Given the description of an element on the screen output the (x, y) to click on. 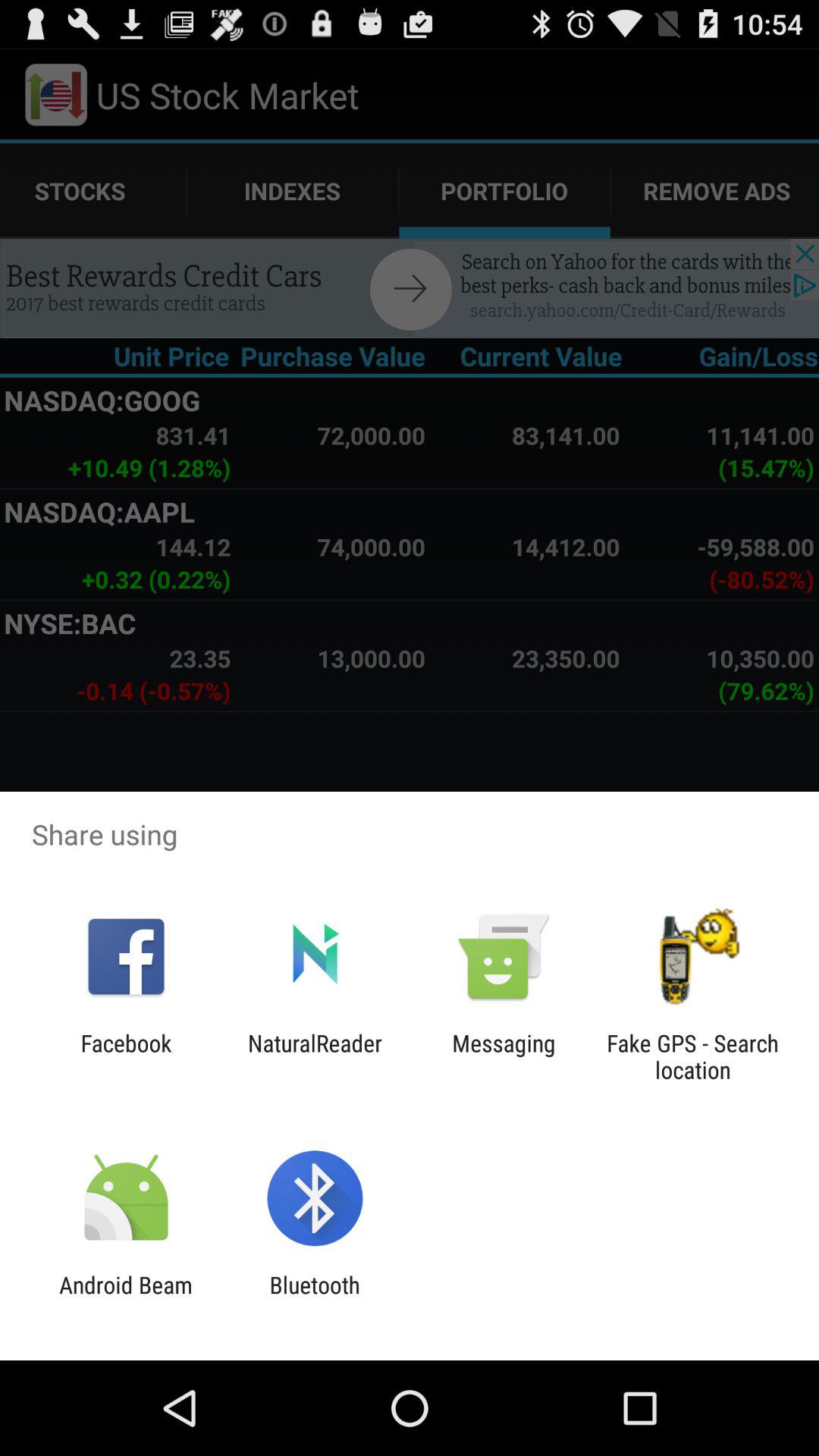
select the app to the right of messaging (692, 1056)
